Given the description of an element on the screen output the (x, y) to click on. 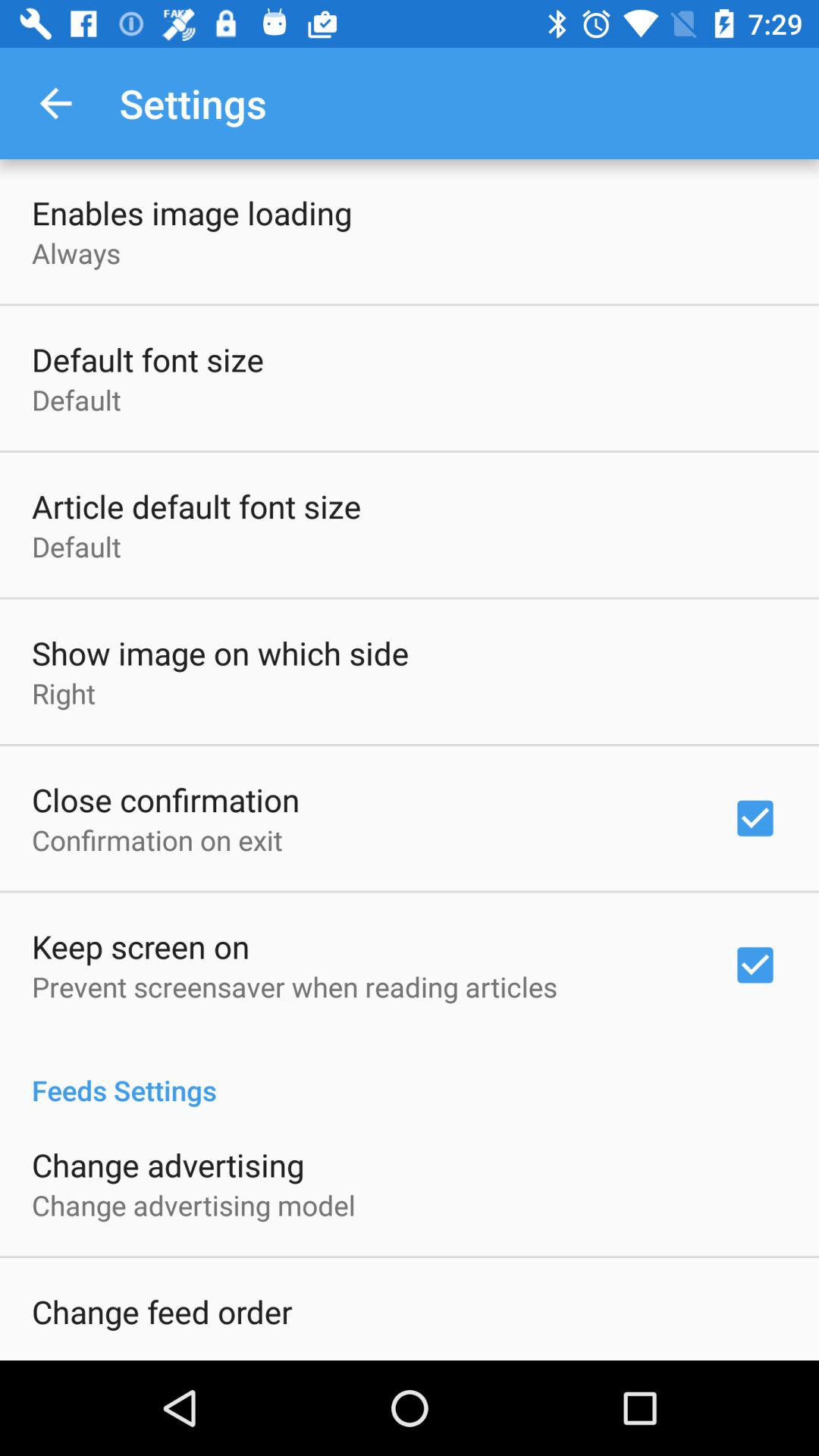
open item above the feeds settings item (294, 986)
